Given the description of an element on the screen output the (x, y) to click on. 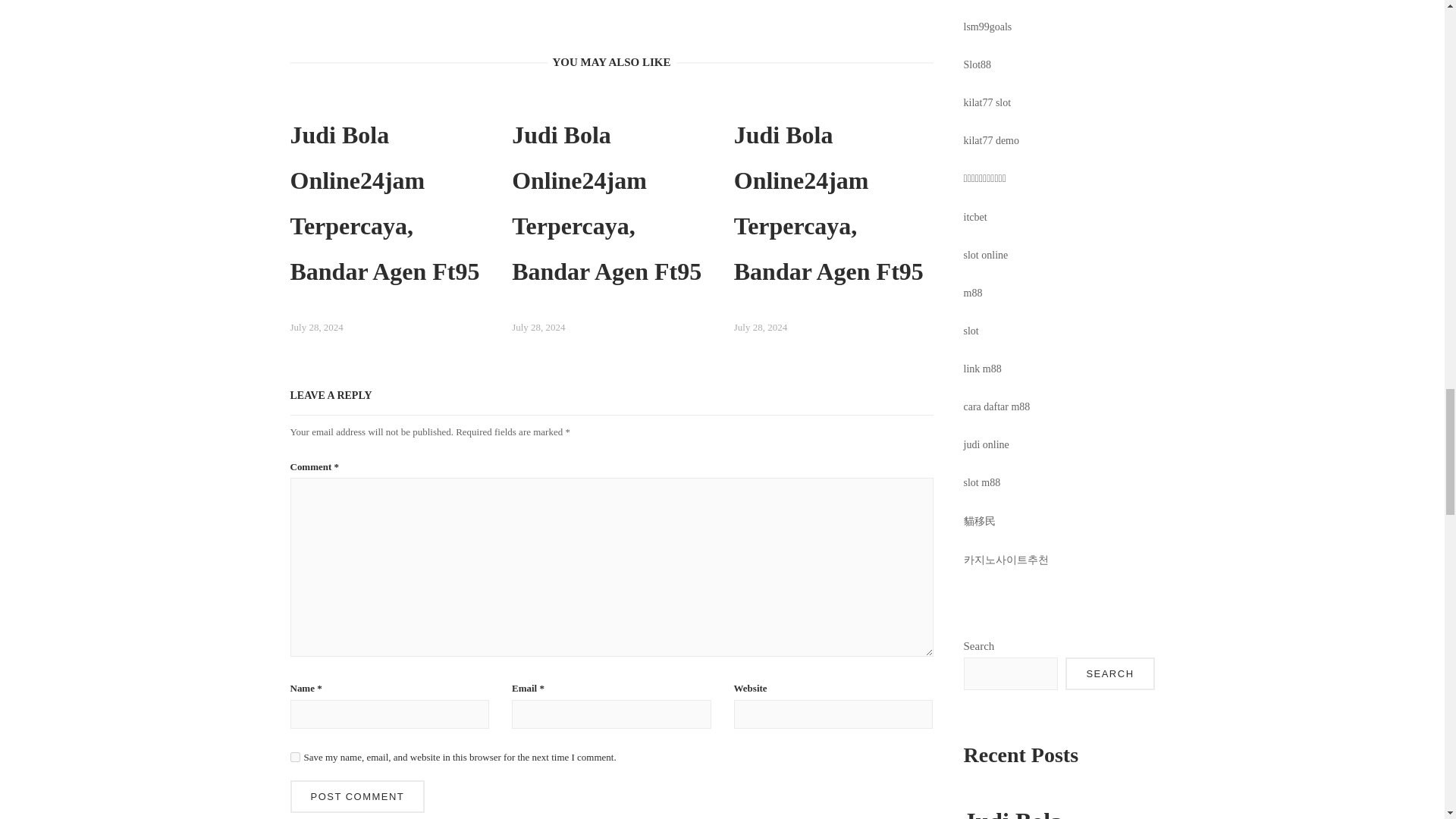
Judi Bola Online24jam Terpercaya, Bandar Agen Ft95 (833, 224)
Judi Bola Online24jam Terpercaya, Bandar Agen Ft95 (389, 224)
Post Comment (357, 796)
Judi Bola Online24jam Terpercaya, Bandar Agen Ft95 (611, 224)
m88 (972, 292)
yes (294, 757)
Post Comment (357, 796)
